Given the description of an element on the screen output the (x, y) to click on. 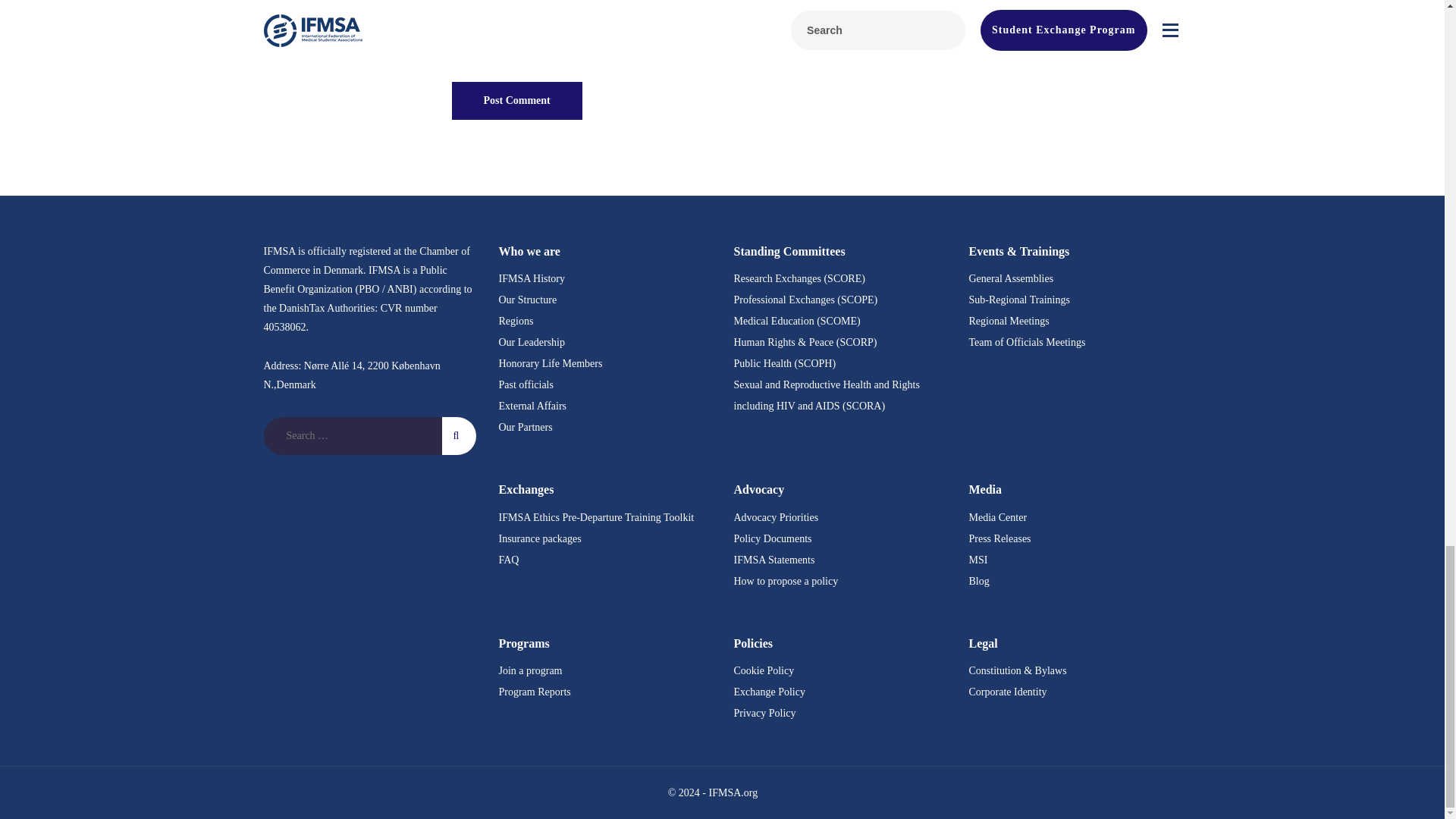
Post Comment (516, 100)
yes (456, 51)
